Given the description of an element on the screen output the (x, y) to click on. 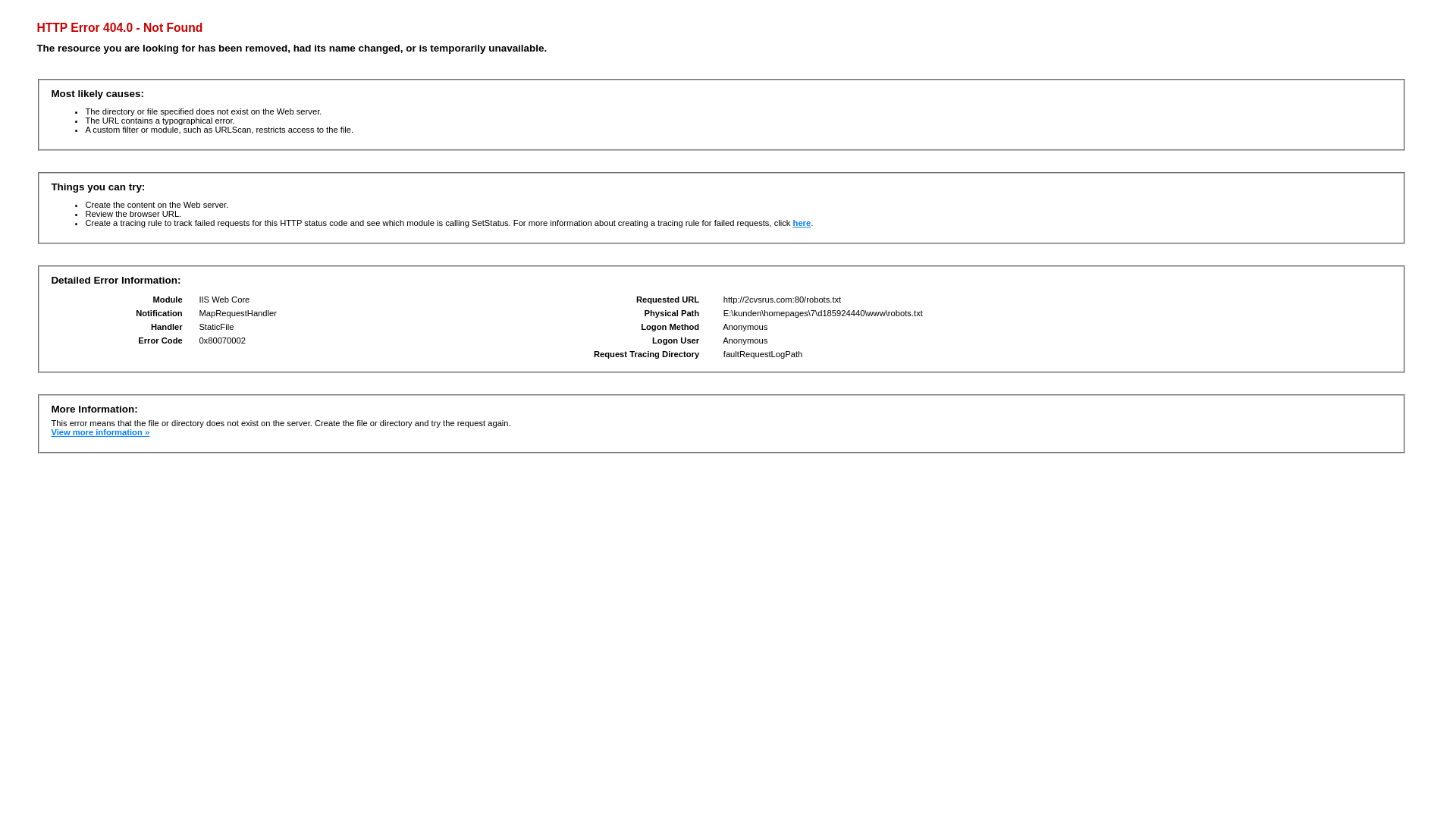
here Element type: text (802, 222)
